Given the description of an element on the screen output the (x, y) to click on. 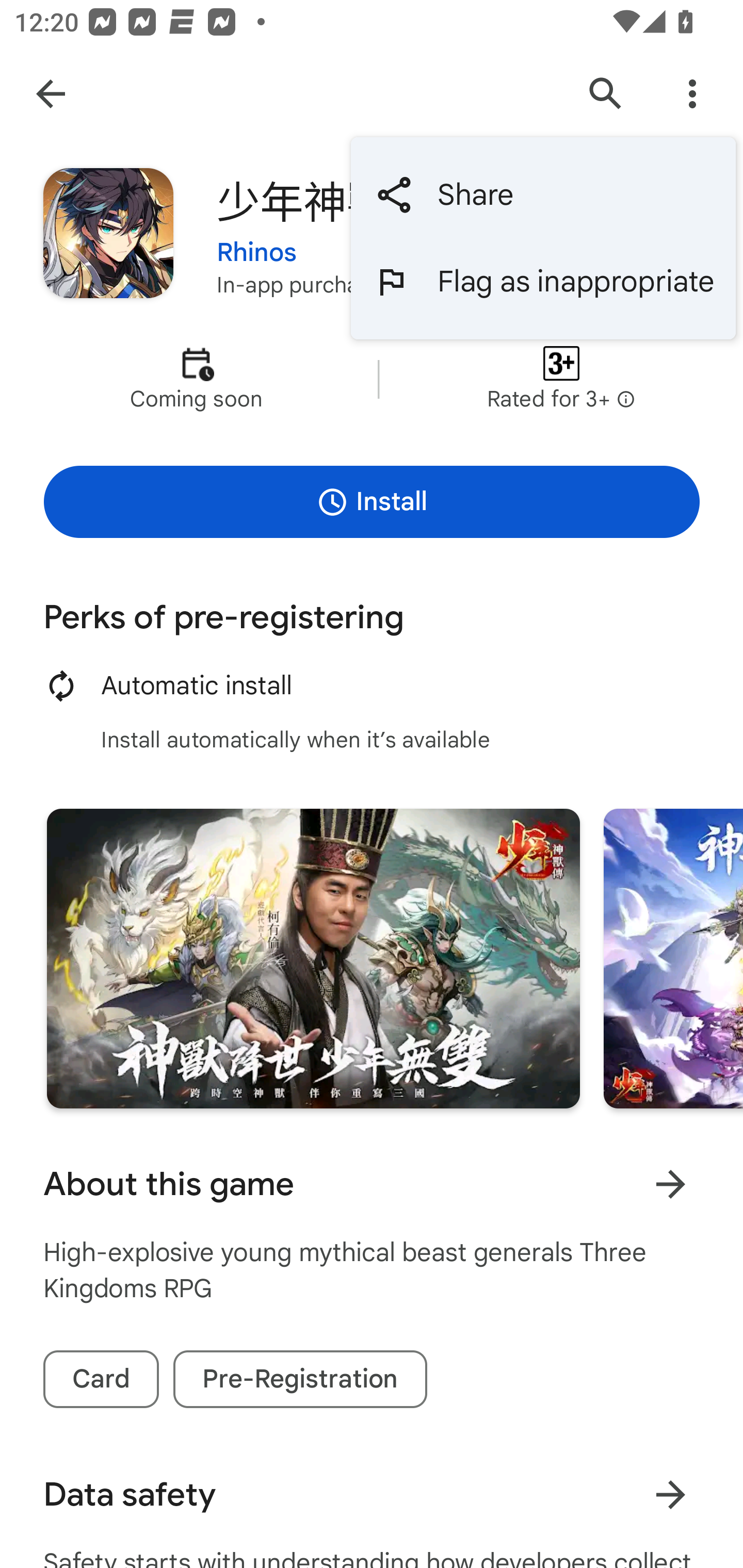
Share (542, 195)
Flag as inappropriate (542, 281)
